Given the description of an element on the screen output the (x, y) to click on. 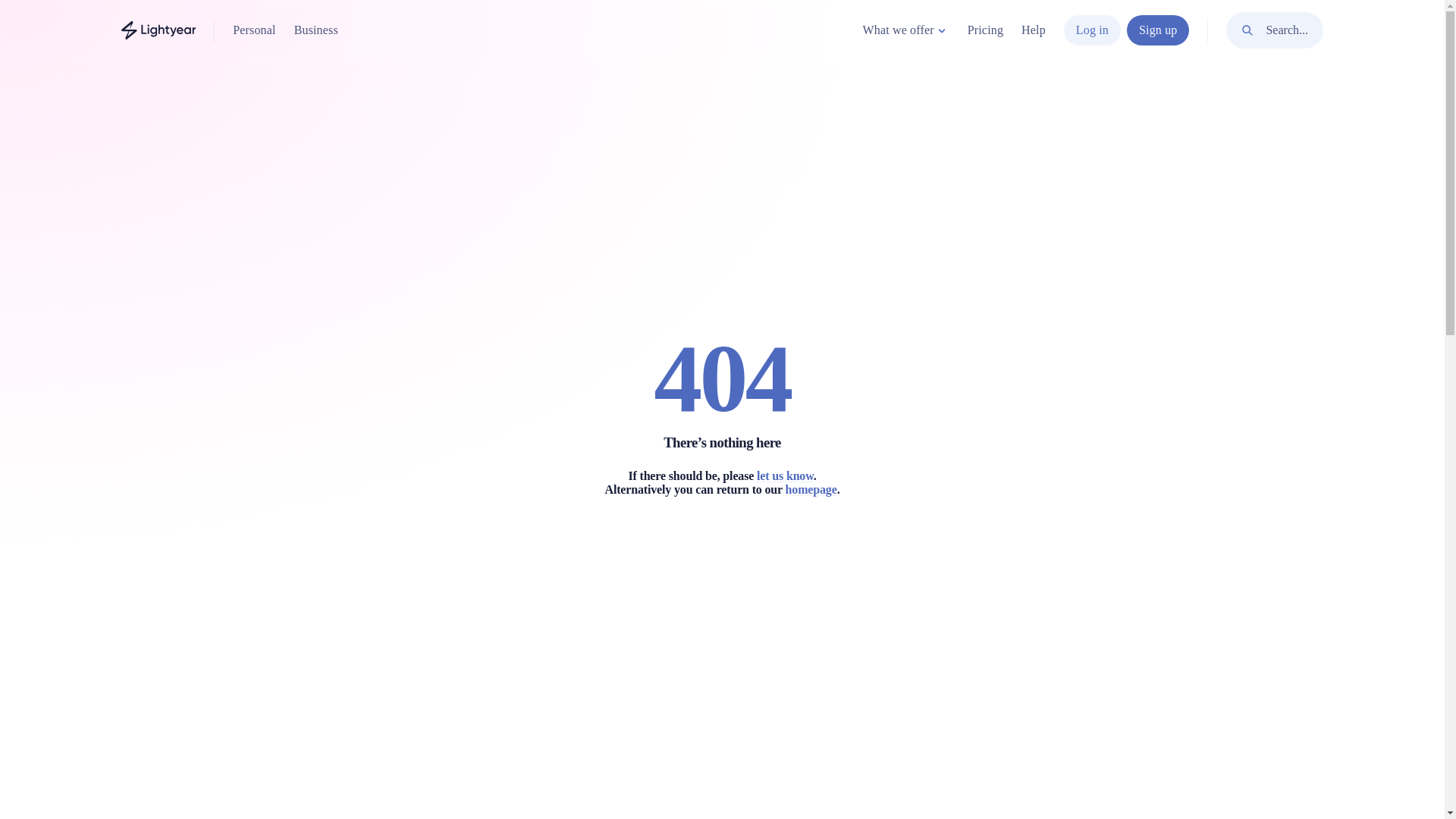
Log in (1092, 30)
Pricing (985, 29)
let us know (785, 474)
homepage (811, 488)
Business (315, 29)
Personal (253, 29)
Help (1033, 29)
Sign up (1157, 30)
